Given the description of an element on the screen output the (x, y) to click on. 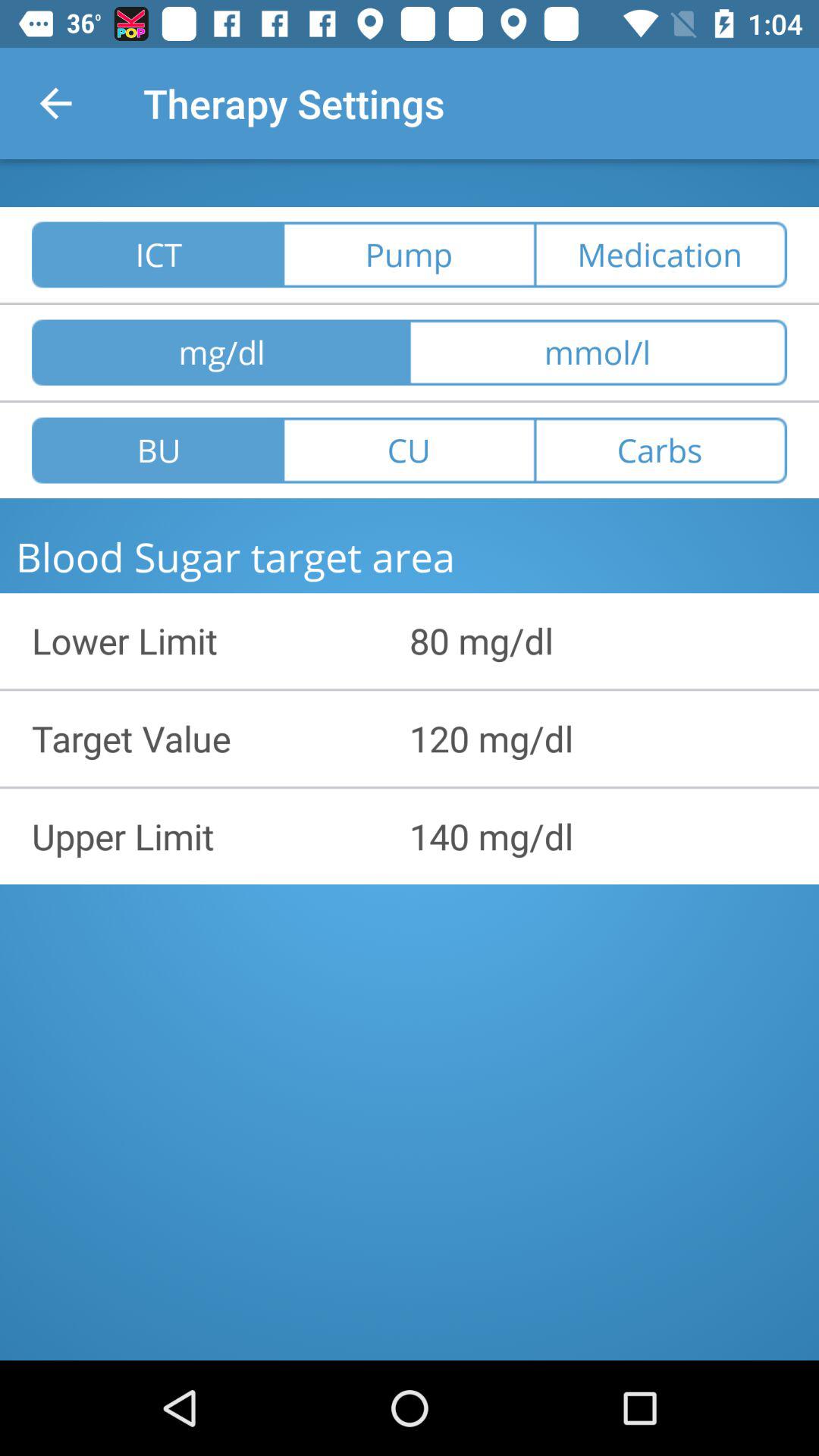
tap icon to the right of mg/dl (598, 352)
